Given the description of an element on the screen output the (x, y) to click on. 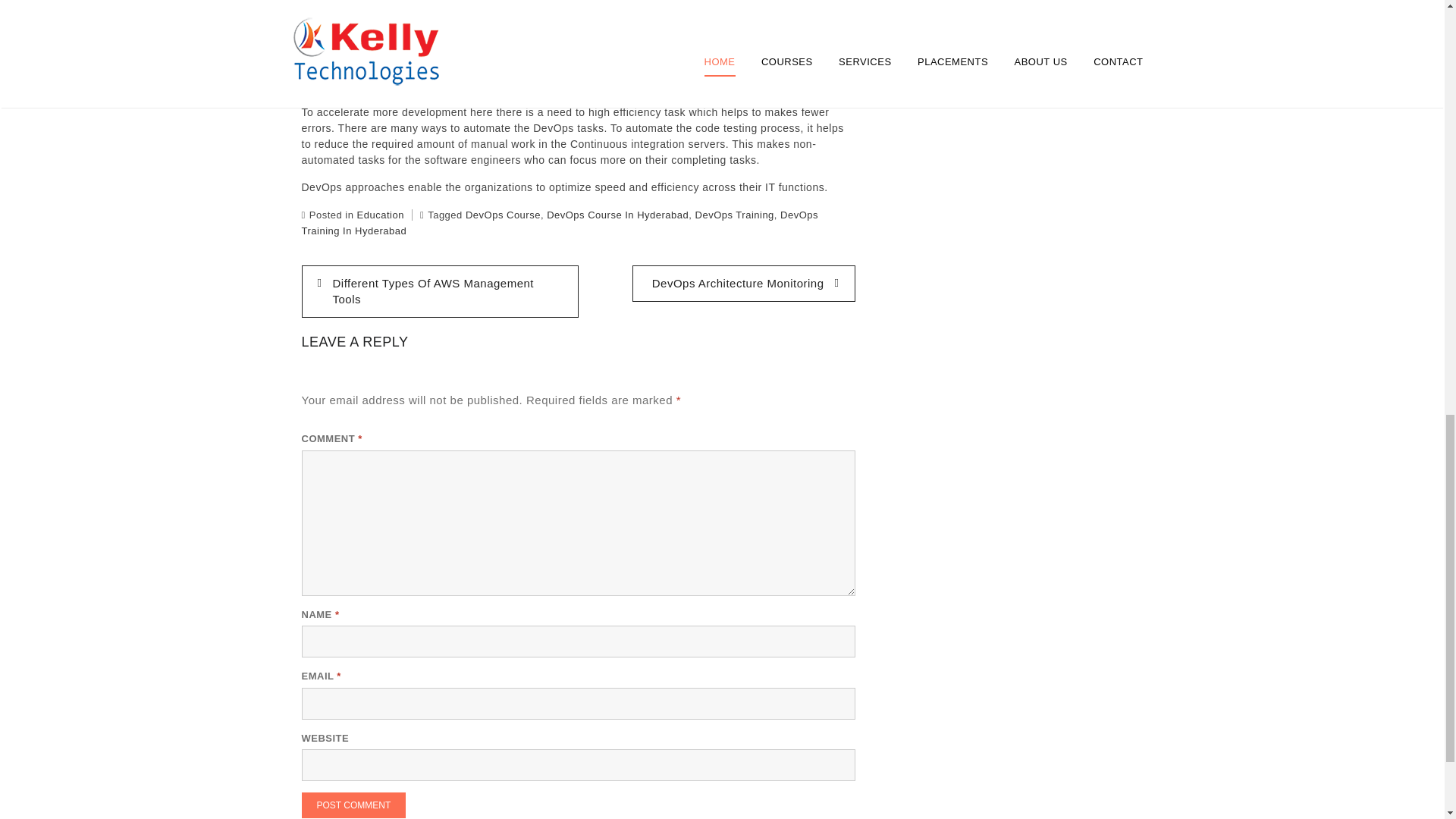
Different Types Of AWS Management Tools (439, 291)
DevOps Training In Hyderabad (559, 222)
DevOps Course In Hyderabad (617, 214)
DevOps Course (502, 214)
Education (380, 214)
DevOps Training (734, 214)
Post Comment (353, 805)
Post Comment (353, 805)
DevOps Architecture Monitoring (743, 283)
